Given the description of an element on the screen output the (x, y) to click on. 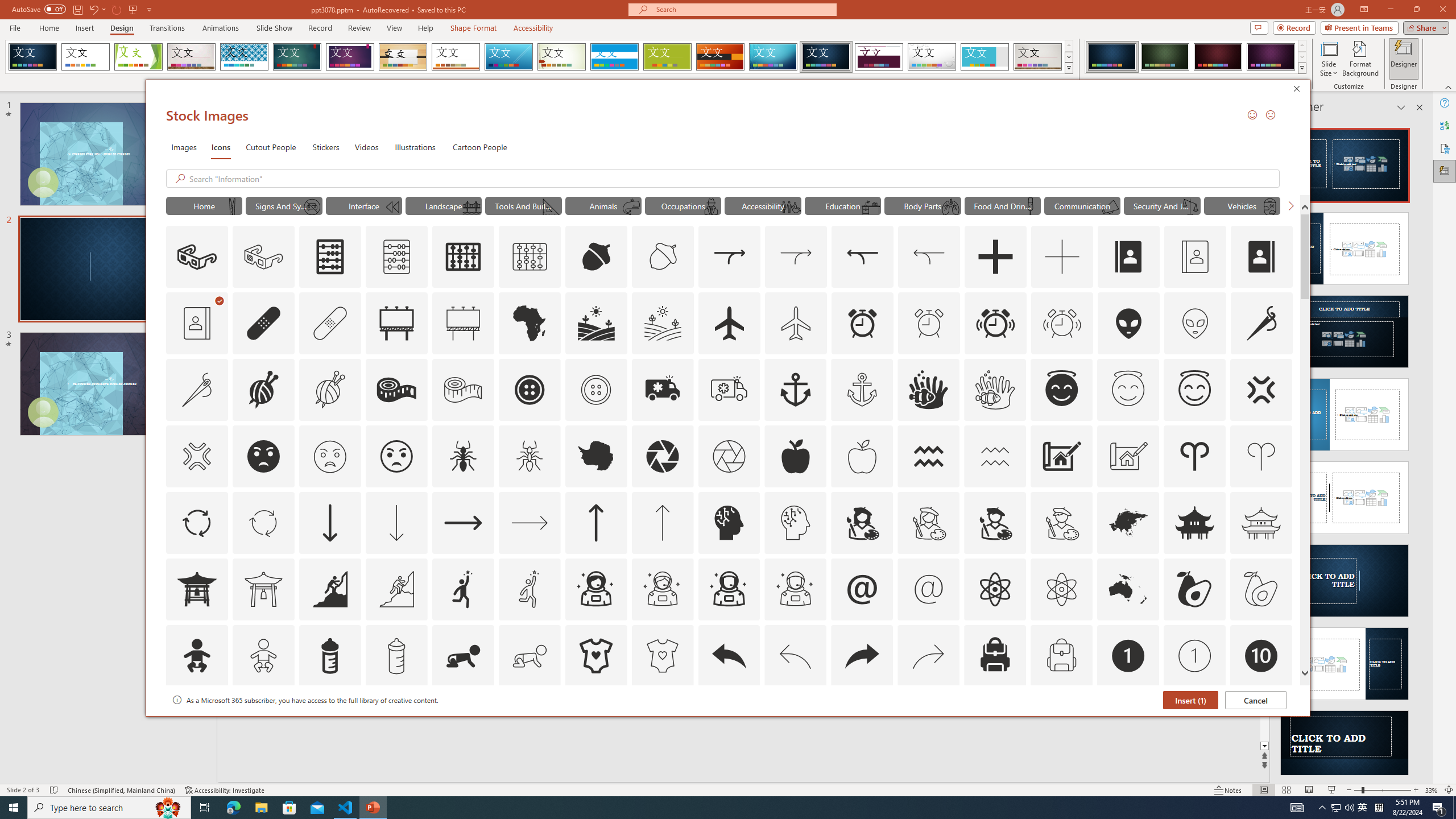
Damask Variant 4 (1270, 56)
AutomationID: Icons_NoDriving_M (311, 206)
AutomationID: Icons_Baby (196, 655)
AutomationID: Icons_Badge6_M (861, 721)
AutomationID: Icons_Aspiration (329, 588)
AutomationID: Icons_ArrowRight (462, 522)
AutomationID: Icons_Badge2_M (329, 721)
AutomationID: Icons_BabyBottle (329, 655)
